Given the description of an element on the screen output the (x, y) to click on. 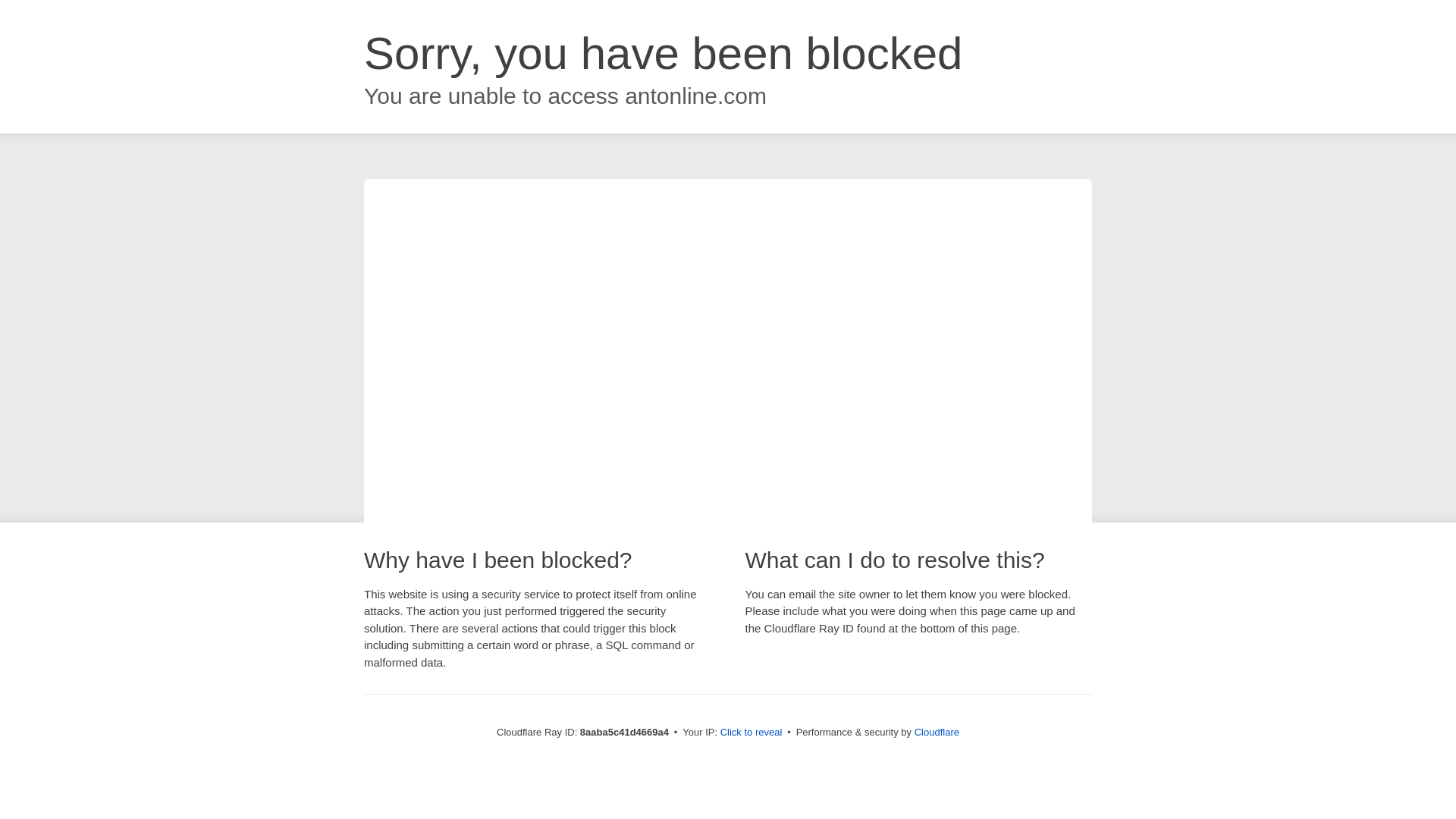
Cloudflare (936, 731)
Click to reveal (751, 732)
